Given the description of an element on the screen output the (x, y) to click on. 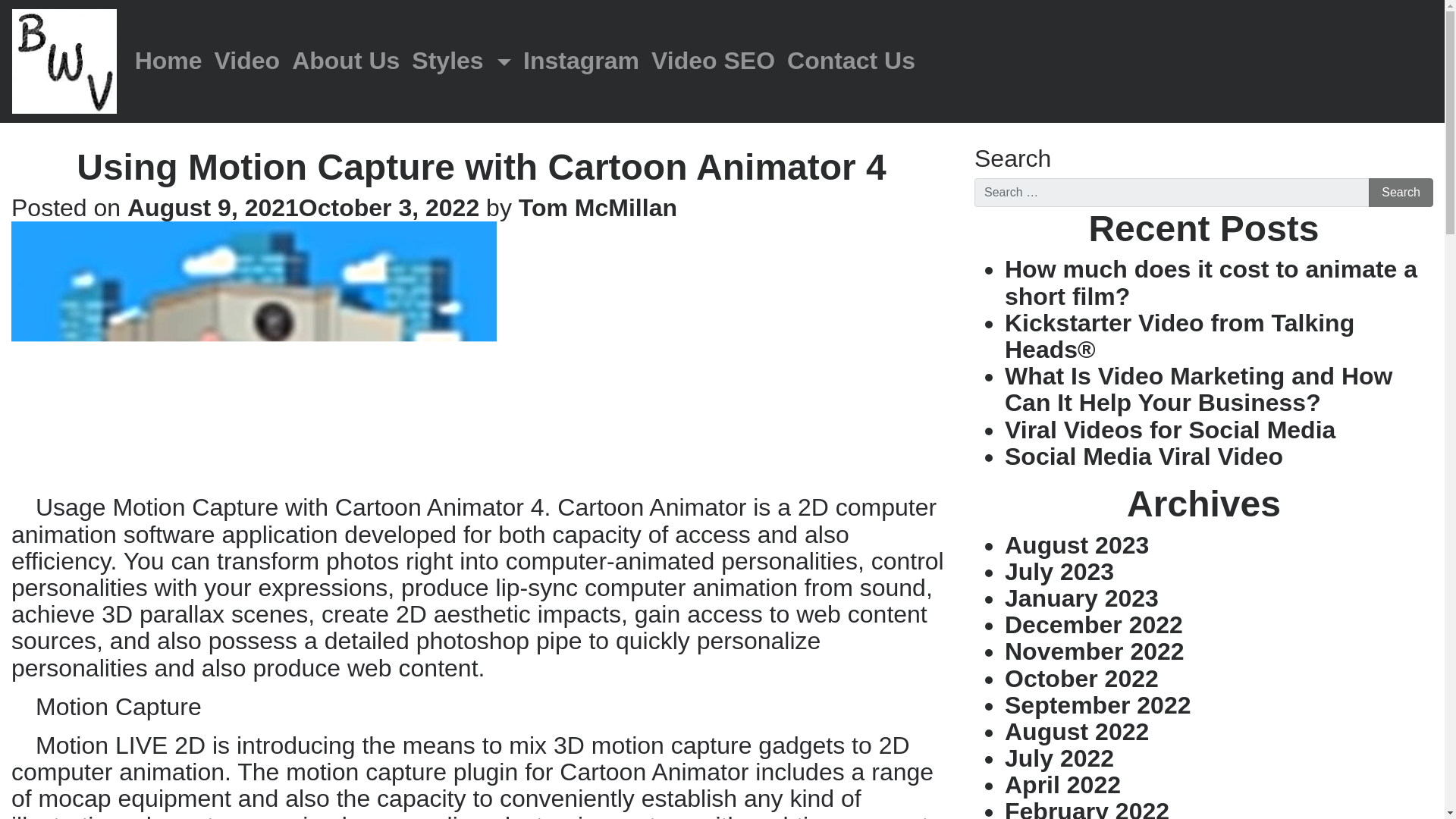
Instagram (580, 61)
About Us (345, 61)
July 2022 (1058, 758)
Social Media Viral Video (1143, 456)
What Is Video Marketing and How Can It Help Your Business? (1197, 389)
Search (1400, 192)
February 2022 (1086, 808)
November 2022 (1094, 651)
Instagram (580, 61)
Search (1400, 192)
